Given the description of an element on the screen output the (x, y) to click on. 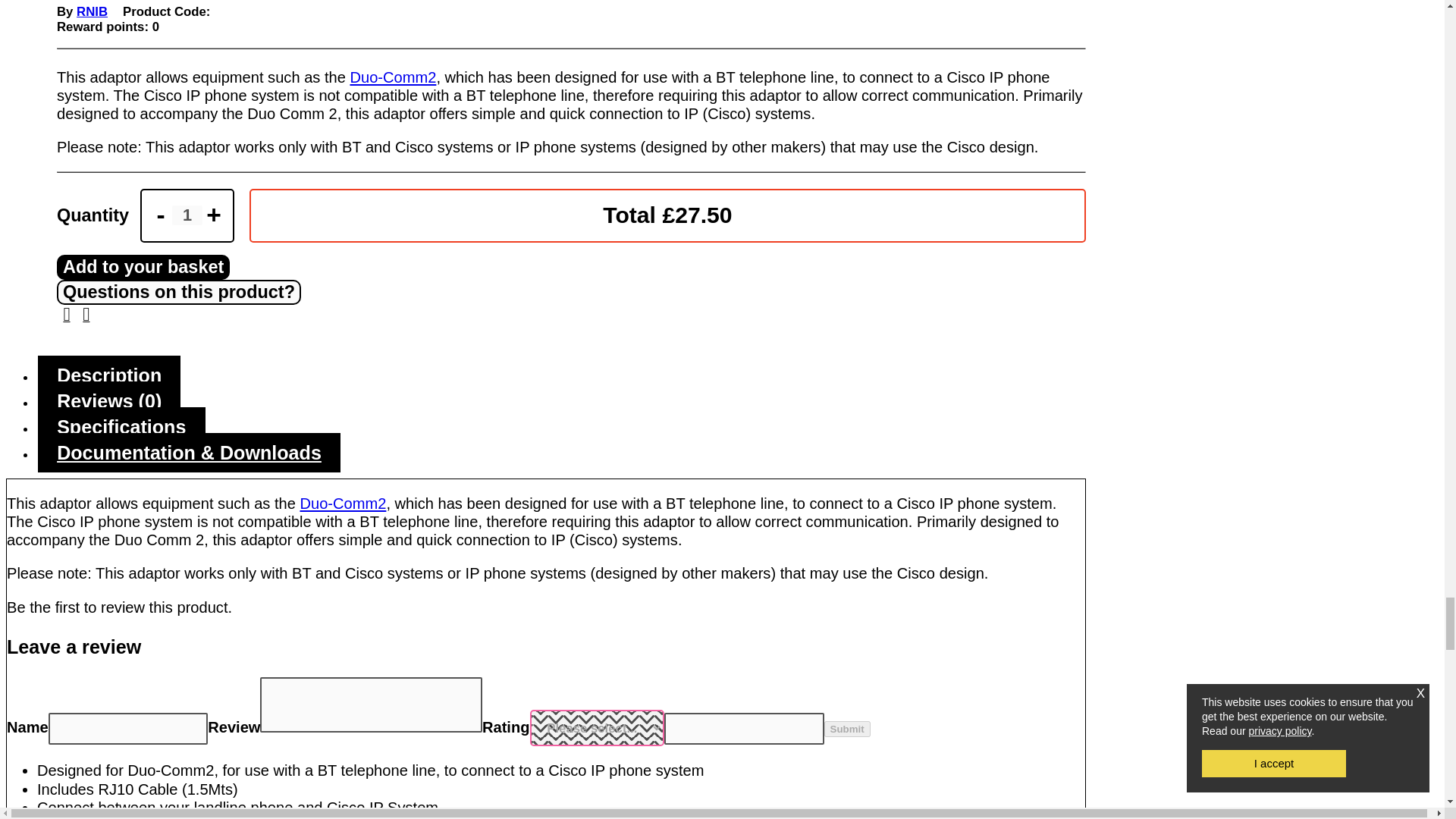
1 (186, 215)
